Given the description of an element on the screen output the (x, y) to click on. 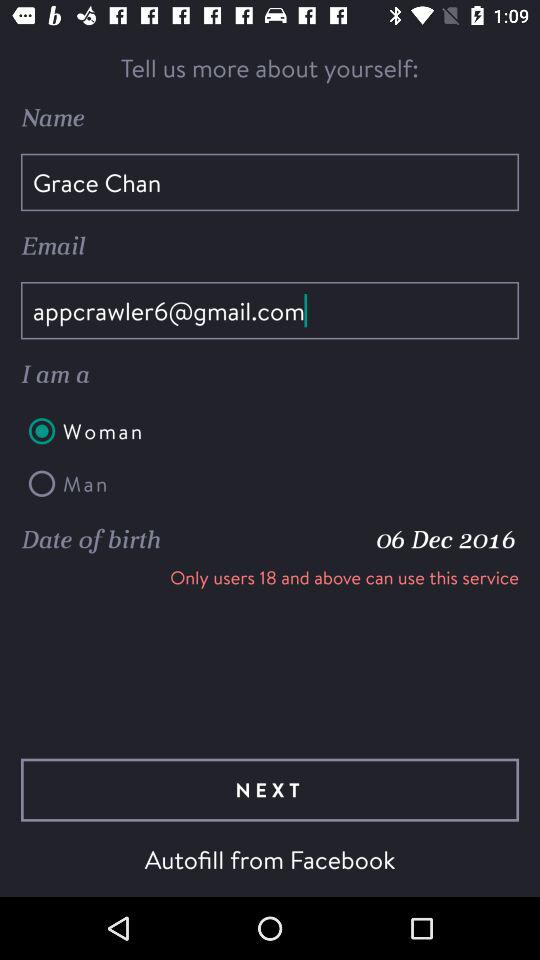
turn on autofill from facebook item (270, 859)
